Given the description of an element on the screen output the (x, y) to click on. 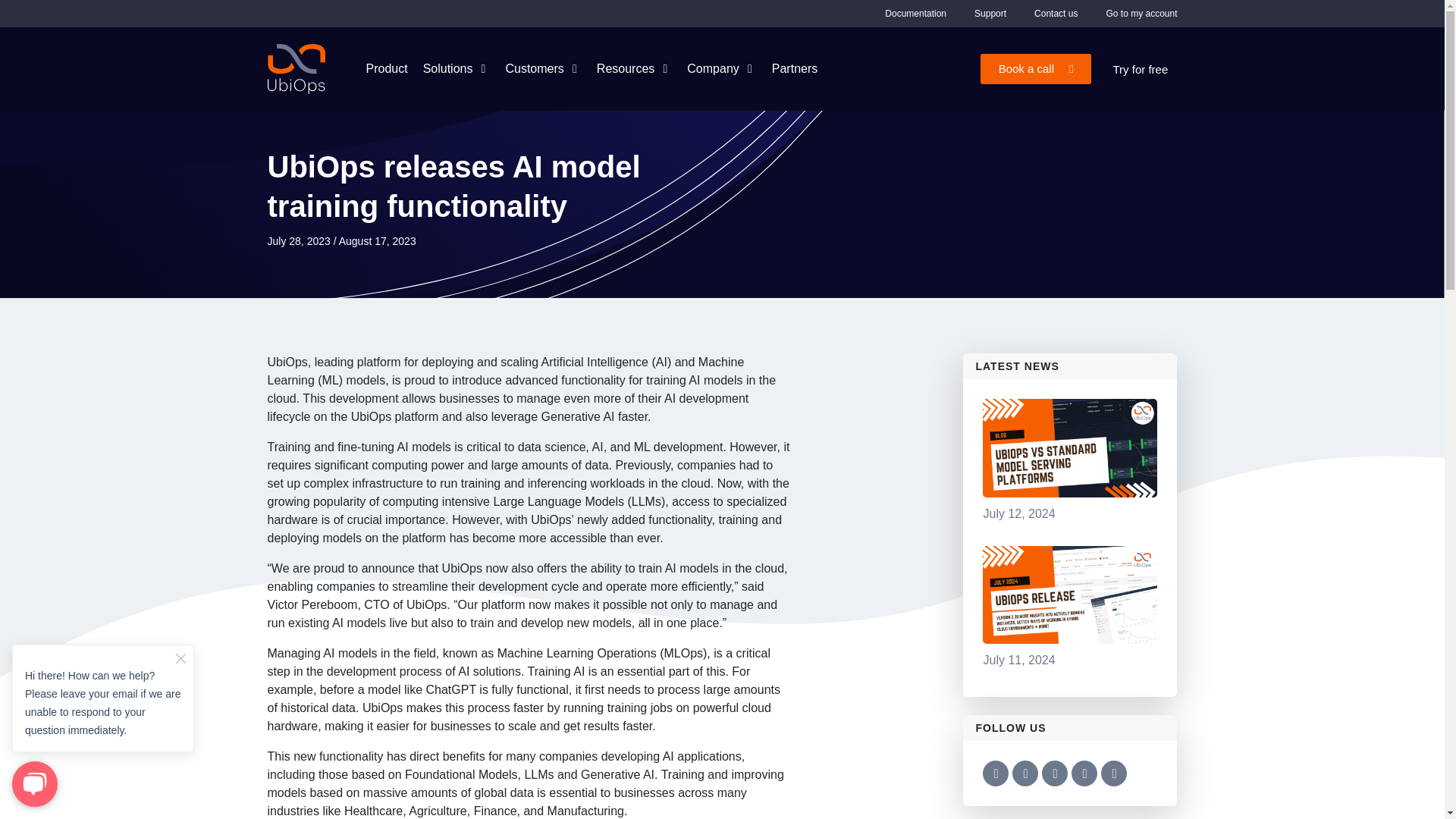
Go to my account (1140, 13)
Documentation (915, 13)
Support (990, 13)
Chat Widget (103, 716)
Contact us (1055, 13)
Customers (534, 68)
Resources (624, 68)
Product (386, 68)
Solutions (448, 68)
